Given the description of an element on the screen output the (x, y) to click on. 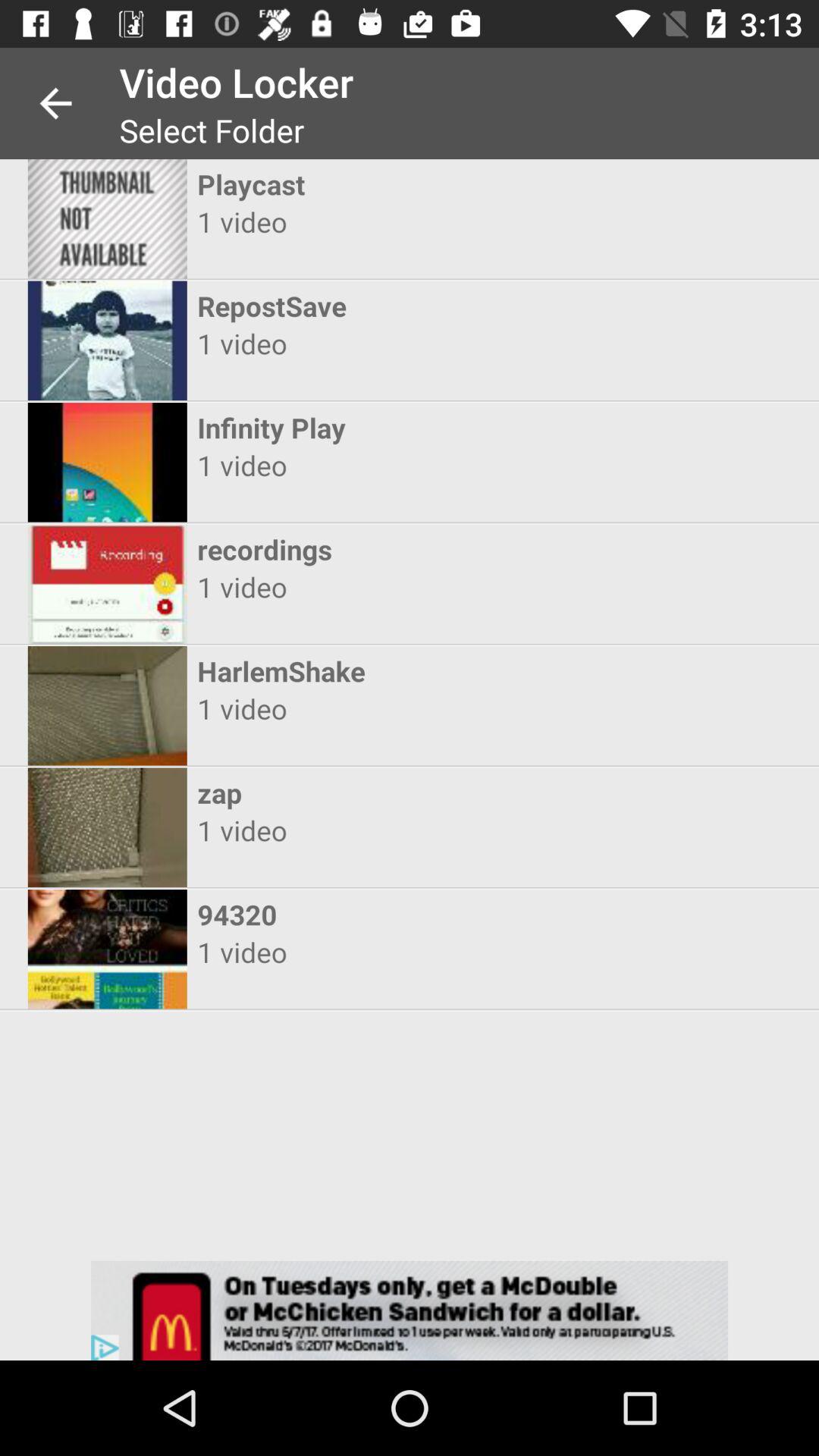
turn on app to the left of video locker app (55, 103)
